Given the description of an element on the screen output the (x, y) to click on. 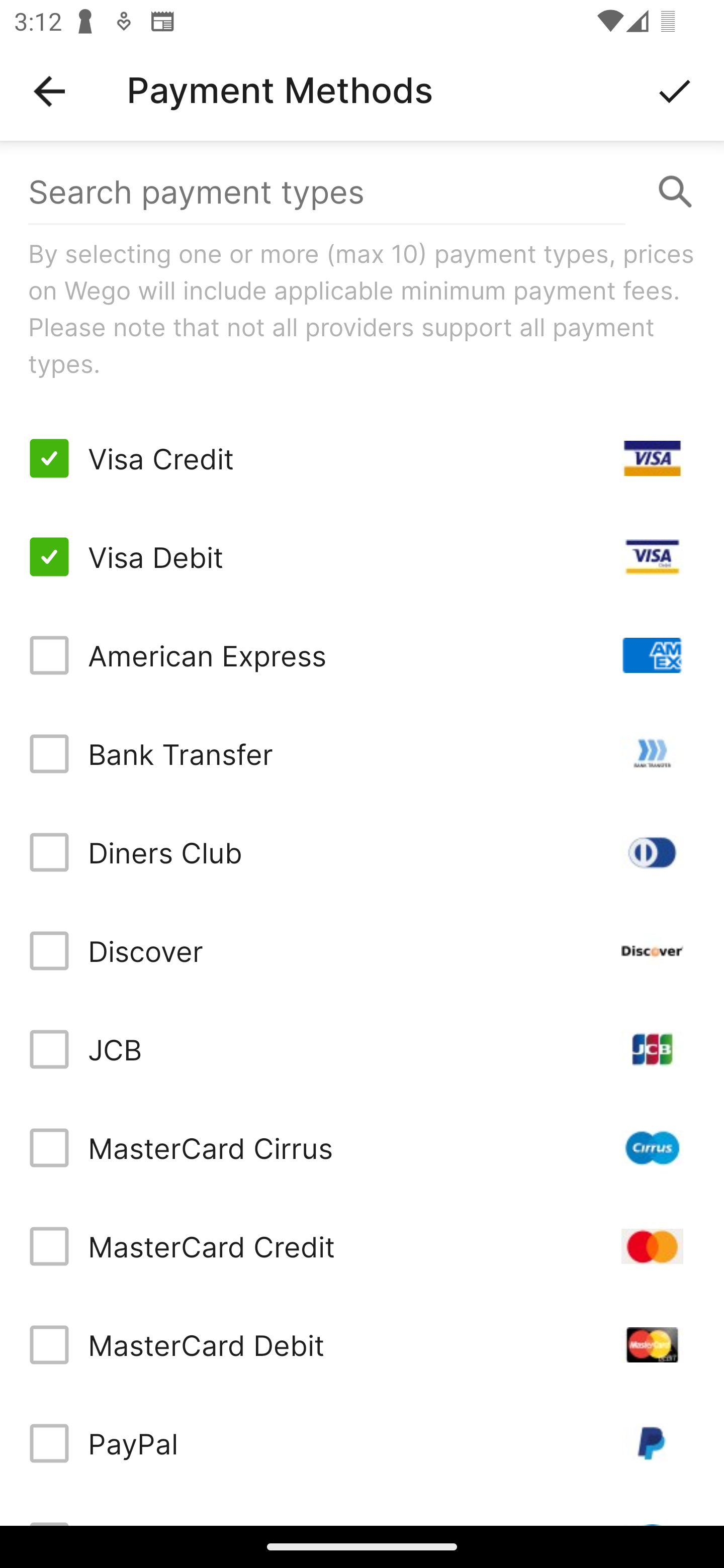
Search payment types  (361, 191)
Visa Credit (362, 458)
Visa Debit (362, 557)
American Express (362, 655)
Bank Transfer (362, 753)
Diners Club (362, 851)
Discover (362, 950)
JCB (362, 1049)
MasterCard Cirrus (362, 1147)
MasterCard Credit (362, 1245)
MasterCard Debit (362, 1344)
PayPal (362, 1442)
